Given the description of an element on the screen output the (x, y) to click on. 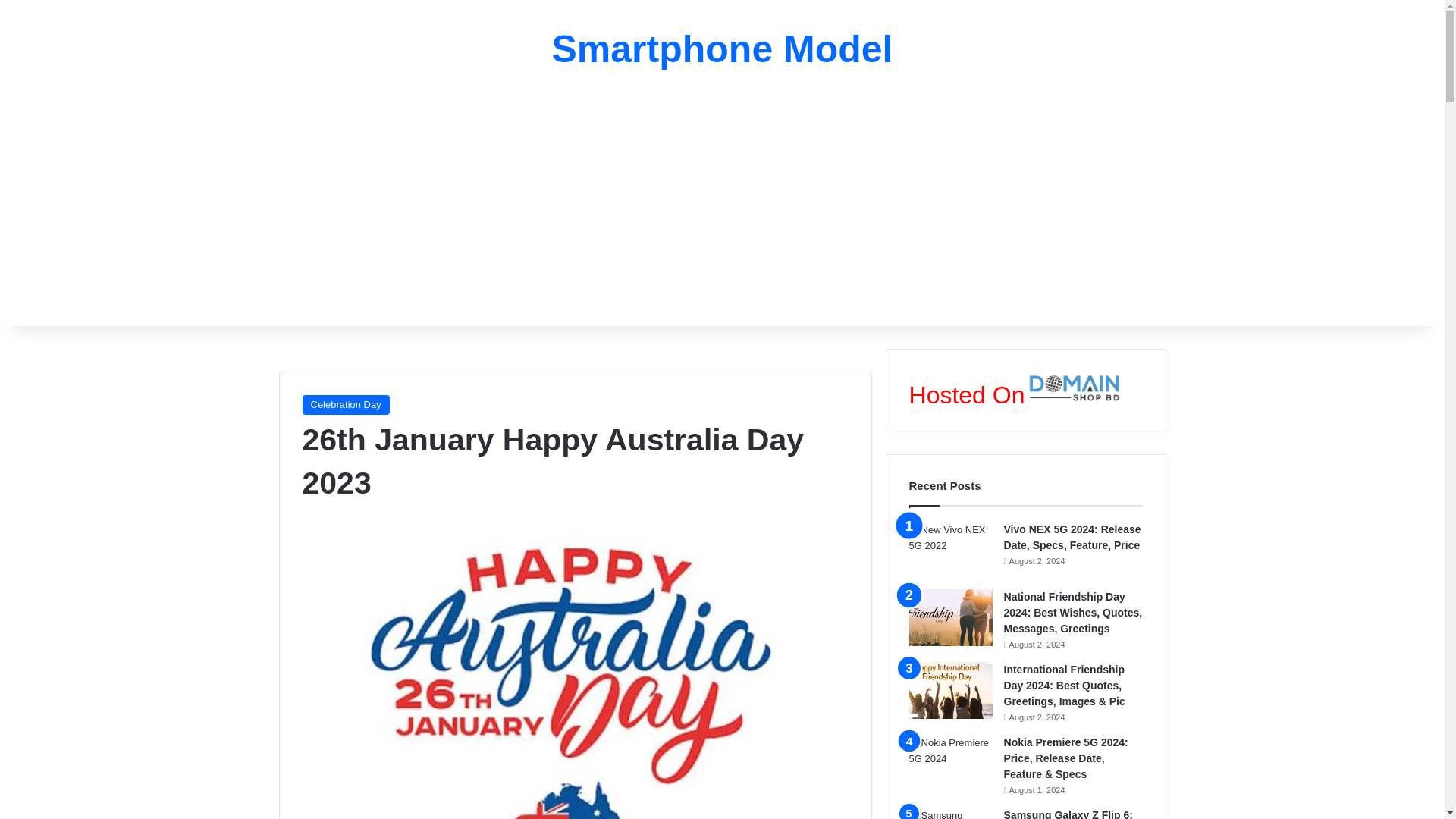
Celebration Day (344, 404)
Smartphone Model (721, 48)
Smartphone Model (721, 48)
